Given the description of an element on the screen output the (x, y) to click on. 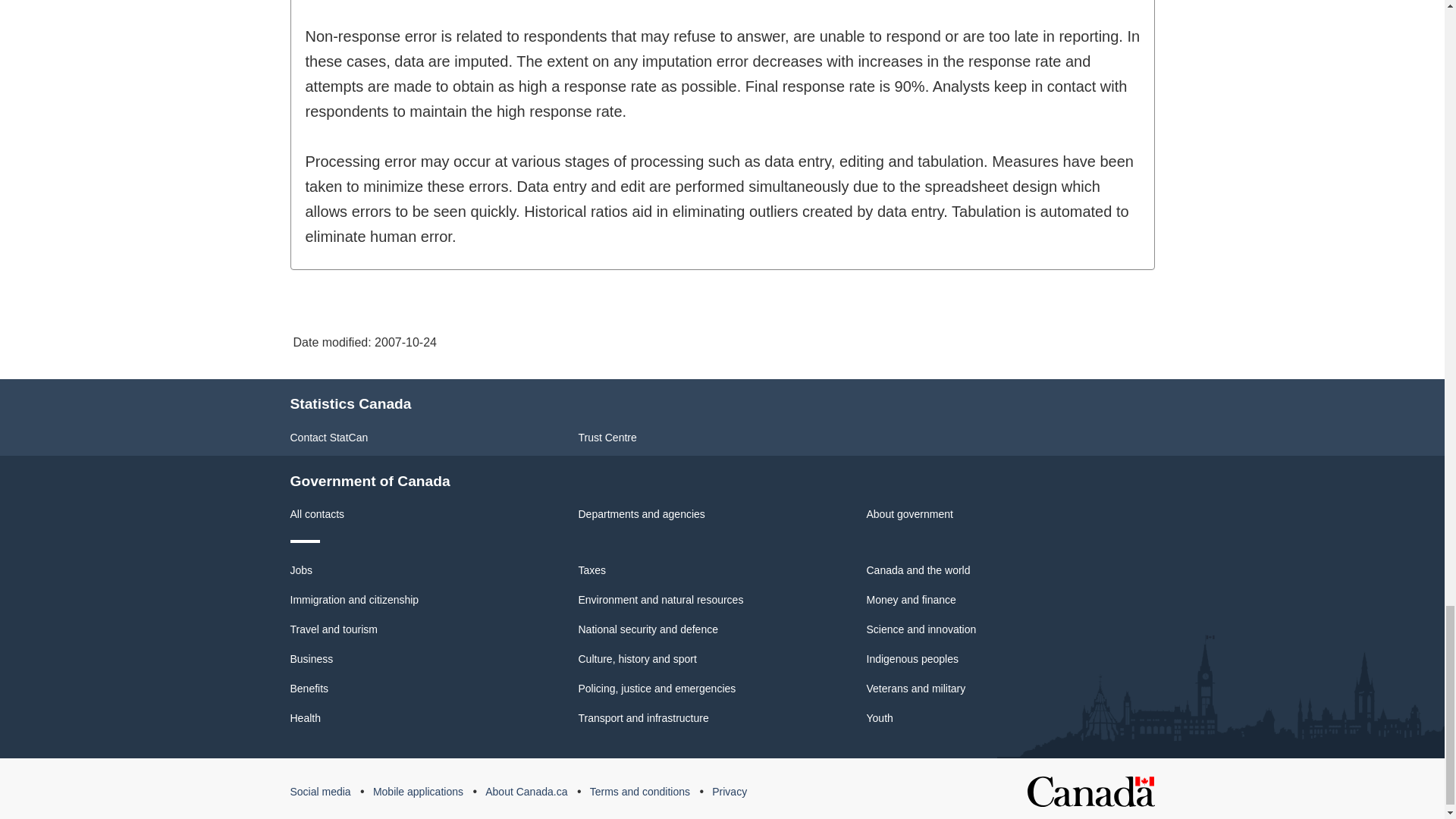
Contact StatCan (328, 437)
Departments and agencies (641, 513)
Business (311, 658)
All contacts (316, 513)
Trust Centre (607, 437)
About government (909, 513)
Jobs (301, 570)
Immigration and citizenship (354, 599)
Travel and tourism (333, 629)
